Given the description of an element on the screen output the (x, y) to click on. 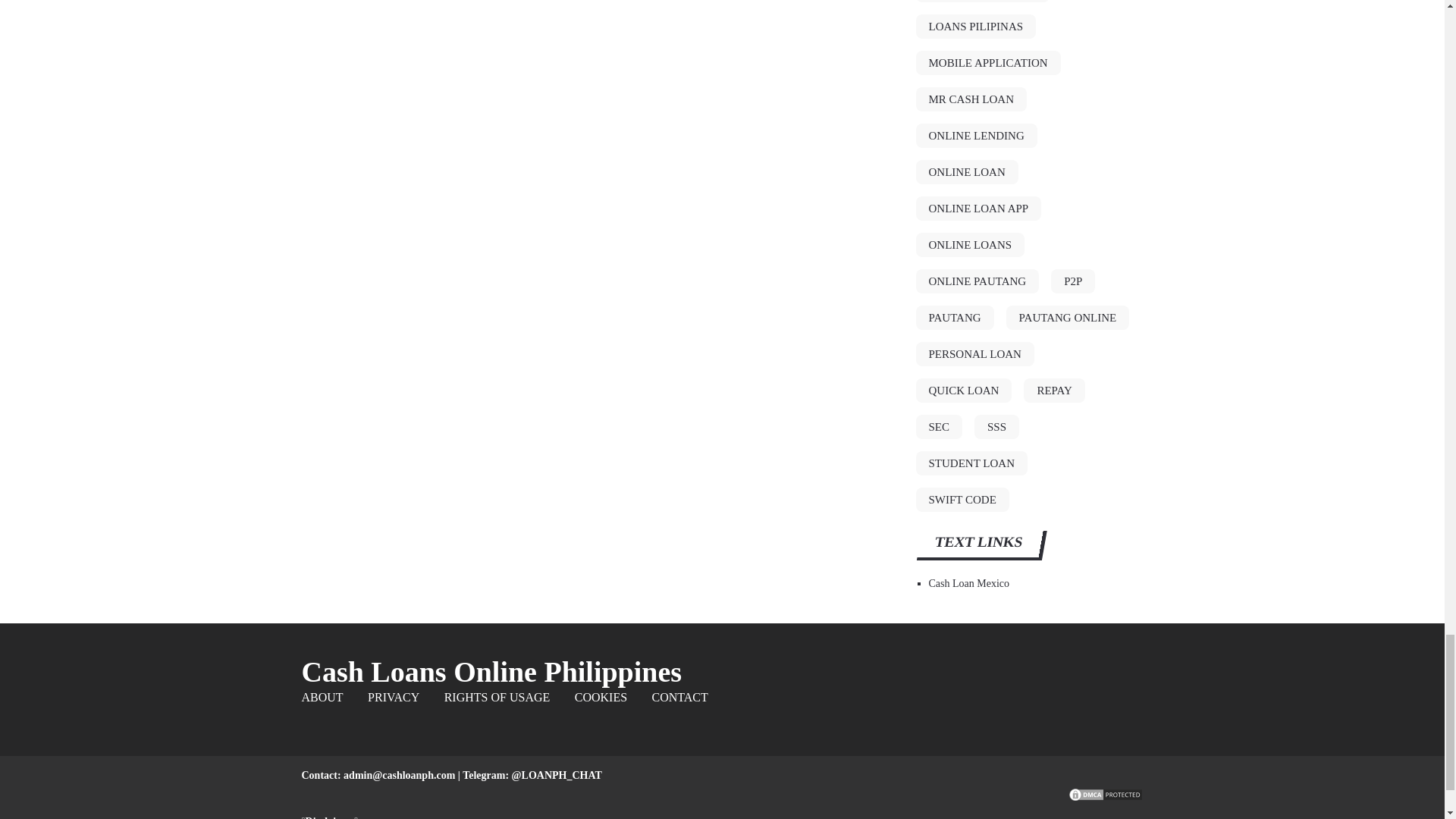
DMCA.com Protection Status (1104, 798)
